Given the description of an element on the screen output the (x, y) to click on. 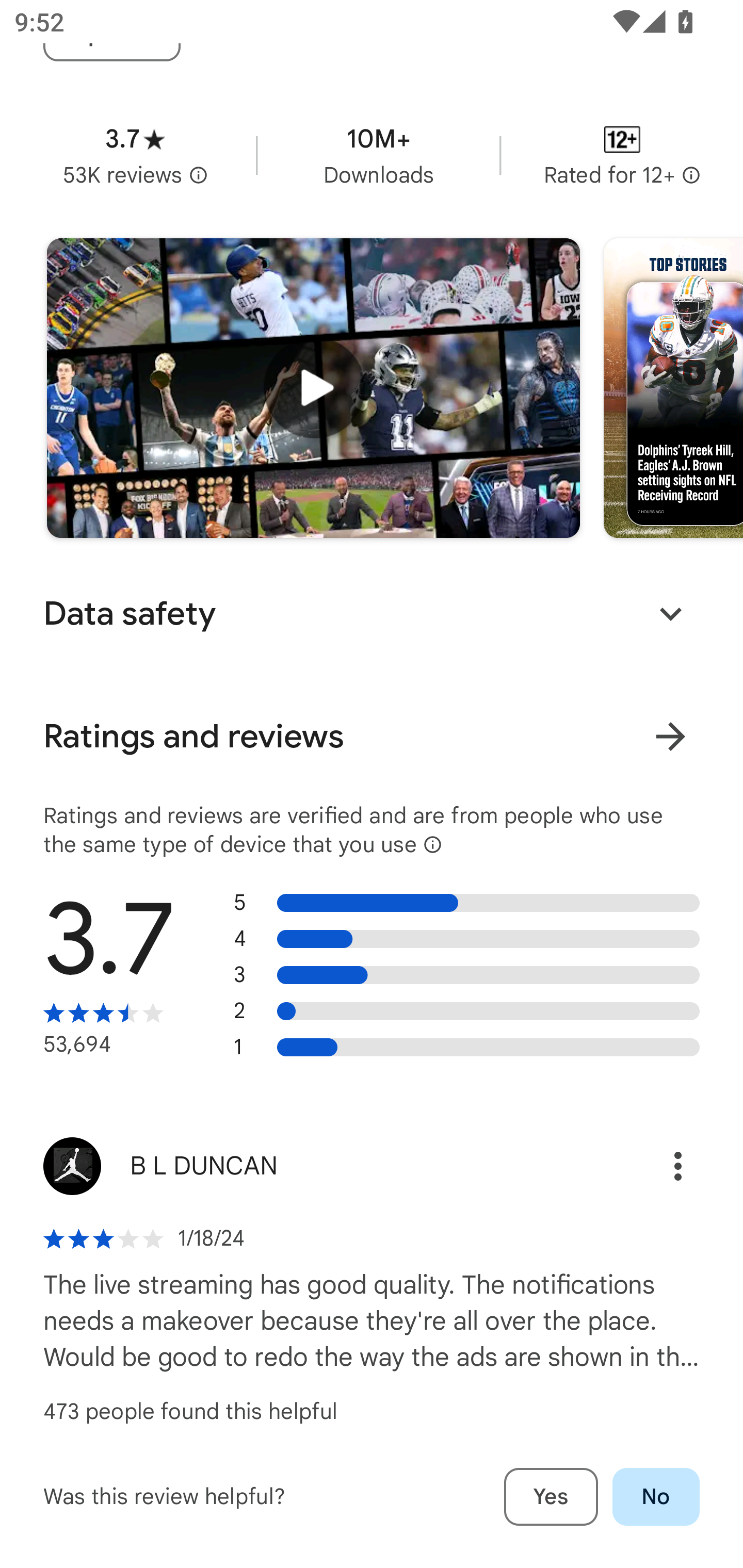
Average rating 3.7 stars in 53 thousand reviews (135, 155)
Content rating Rated for 12+ (622, 155)
Play trailer for "FOX Sports: Watch Live" (313, 387)
Data safety Expand (371, 613)
Expand (670, 613)
Ratings and reviews View all ratings and reviews (371, 736)
View all ratings and reviews (670, 736)
Options (655, 1165)
Yes (550, 1496)
No (655, 1496)
